Given the description of an element on the screen output the (x, y) to click on. 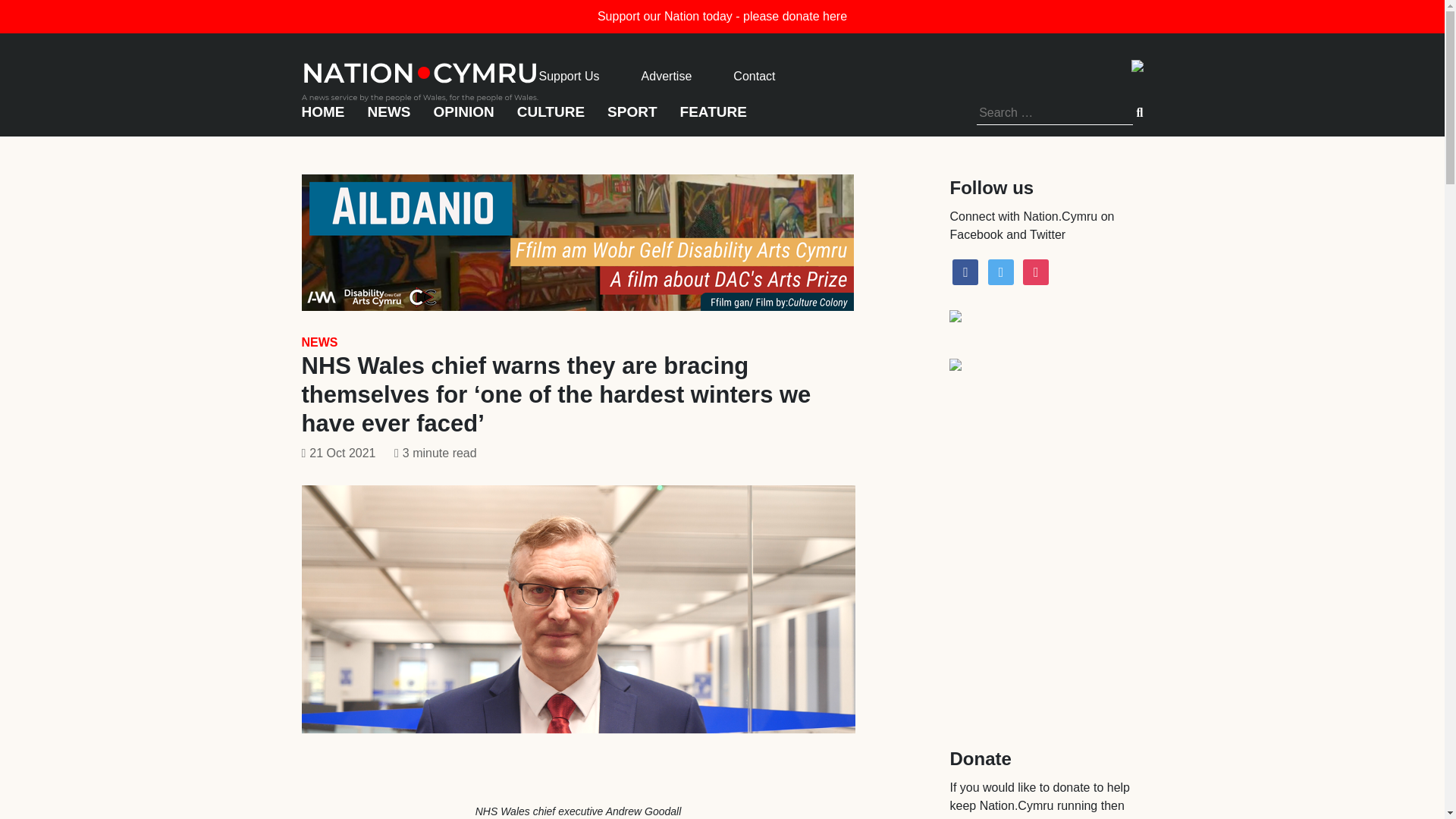
FEATURE (712, 118)
OPINION (464, 118)
Contact (753, 75)
SPORT (631, 118)
NEWS (319, 341)
HOME (323, 118)
NEWS (388, 118)
Advertise (667, 75)
CULTURE (550, 118)
home (419, 77)
Support Us (568, 75)
